Given the description of an element on the screen output the (x, y) to click on. 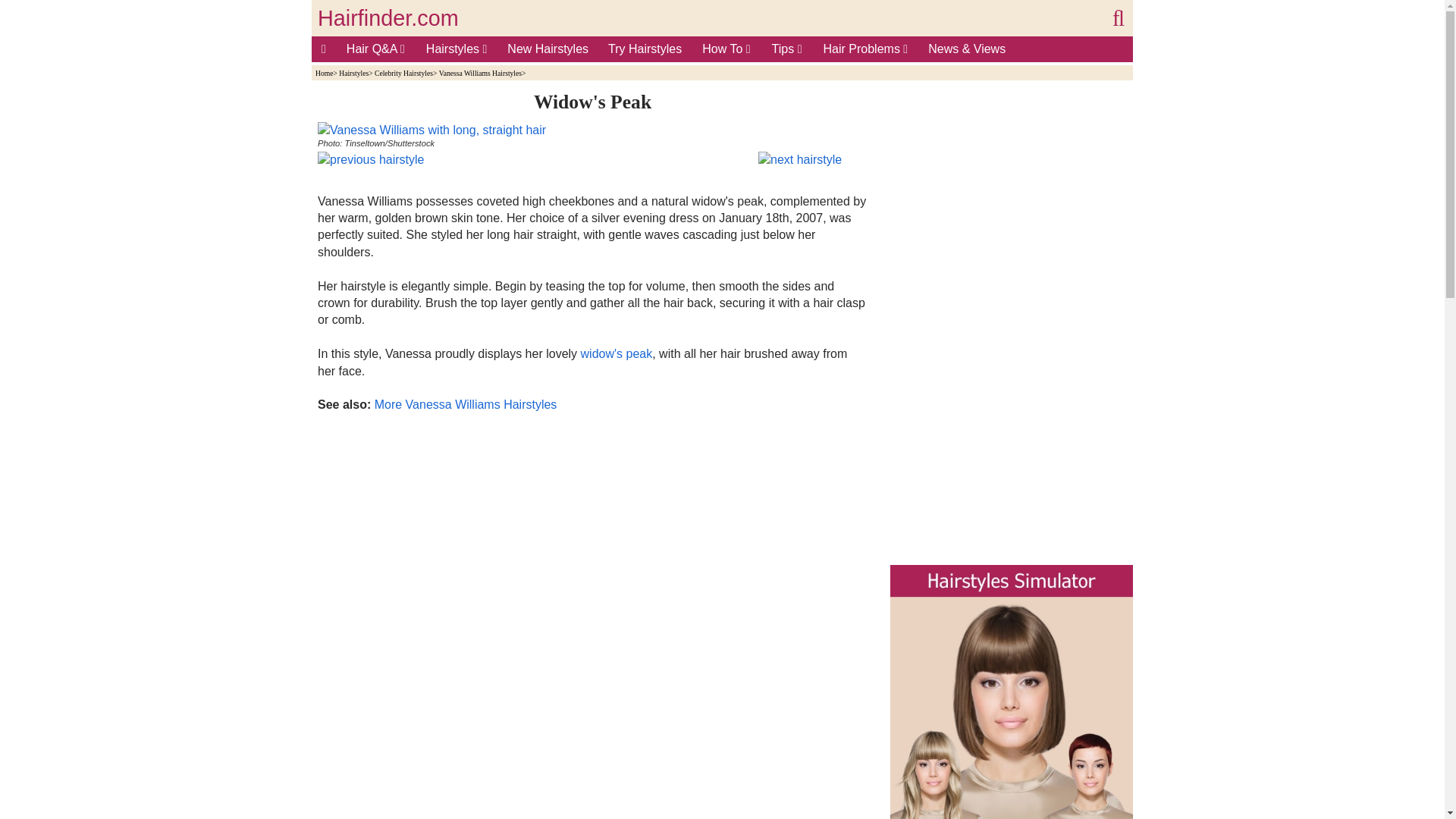
Hairfinder.com (387, 18)
Hairstyles (455, 49)
